Given the description of an element on the screen output the (x, y) to click on. 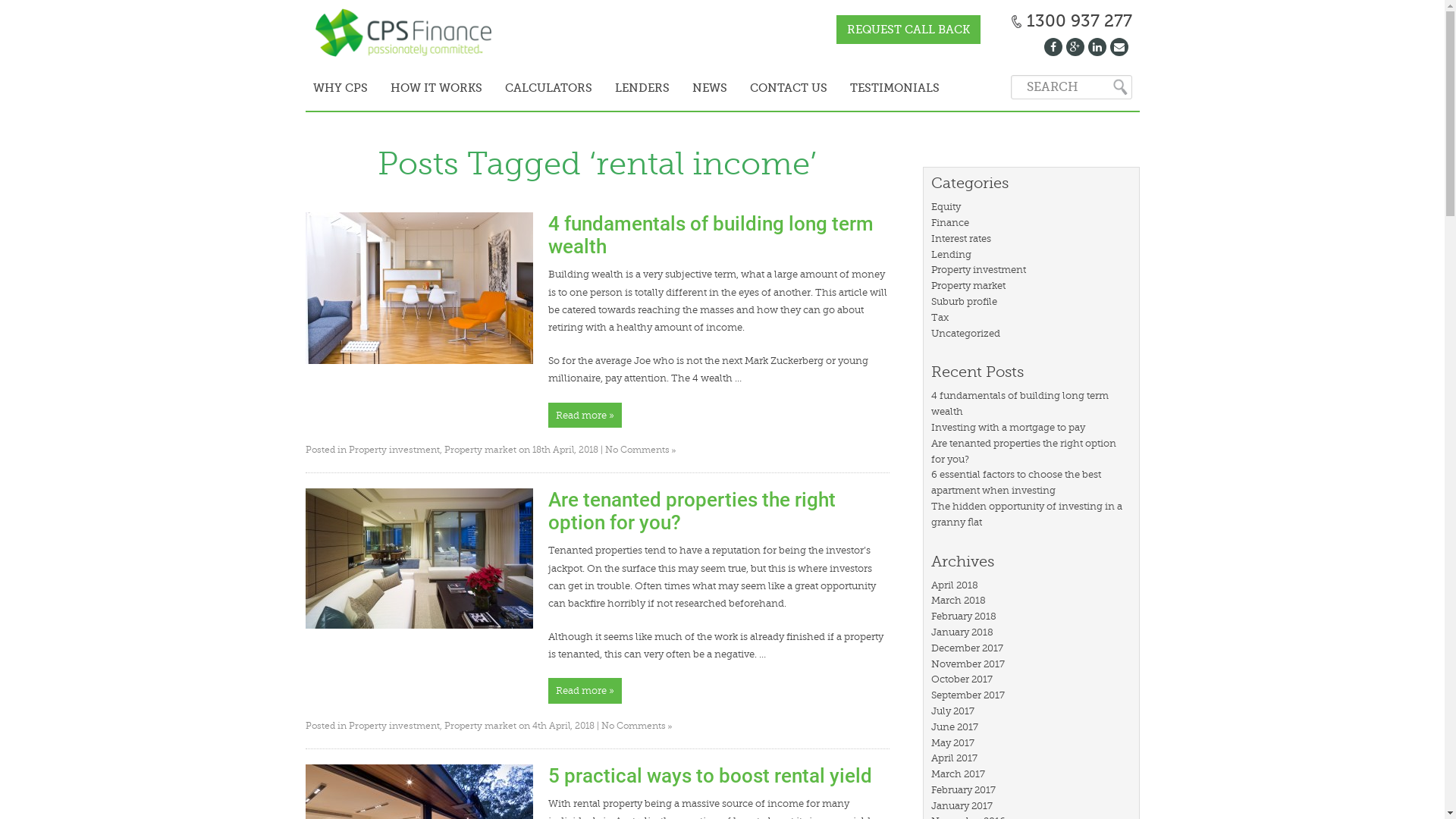
March 2017 Element type: text (958, 773)
March 2018 Element type: text (958, 599)
CONTACT US Element type: text (788, 86)
HOW IT WORKS Element type: text (436, 86)
CPS Finance -  Element type: hover (407, 33)
Tax Element type: text (939, 317)
January 2018 Element type: text (962, 631)
July 2017 Element type: text (952, 710)
REQUEST CALL BACK Element type: text (907, 29)
February 2017 Element type: text (963, 789)
TESTIMONIALS Element type: text (894, 86)
NEWS Element type: text (709, 86)
June 2017 Element type: text (954, 726)
Property investment Element type: text (393, 449)
October 2017 Element type: text (961, 678)
Property investment Element type: text (978, 269)
CALCULATORS Element type: text (547, 86)
September 2017 Element type: text (967, 694)
Property investment Element type: text (393, 725)
Are tenanted properties the right option for you? Element type: text (690, 510)
Investing with a mortgage to pay Element type: text (1008, 427)
Suburb profile Element type: text (964, 301)
Property market Element type: text (968, 285)
The hidden opportunity of investing in a granny flat Element type: text (1026, 513)
LENDERS Element type: text (641, 86)
Interest rates Element type: text (961, 238)
4 fundamentals of building long term wealth Element type: text (709, 234)
WHY CPS Element type: text (340, 86)
February 2018 Element type: text (963, 615)
Finance Element type: text (950, 222)
Uncategorized Element type: text (965, 332)
Equity Element type: text (945, 206)
Lending Element type: text (951, 254)
5 practical ways to boost rental yield Element type: text (709, 775)
December 2017 Element type: text (967, 647)
Property market Element type: text (480, 725)
April 2018 Element type: text (954, 584)
4 fundamentals of building long term wealth Element type: text (1019, 403)
Are tenanted properties the right option for you? Element type: text (1023, 450)
November 2017 Element type: text (967, 663)
January 2017 Element type: text (961, 805)
May 2017 Element type: text (952, 742)
Property market Element type: text (480, 449)
April 2017 Element type: text (954, 757)
